Given the description of an element on the screen output the (x, y) to click on. 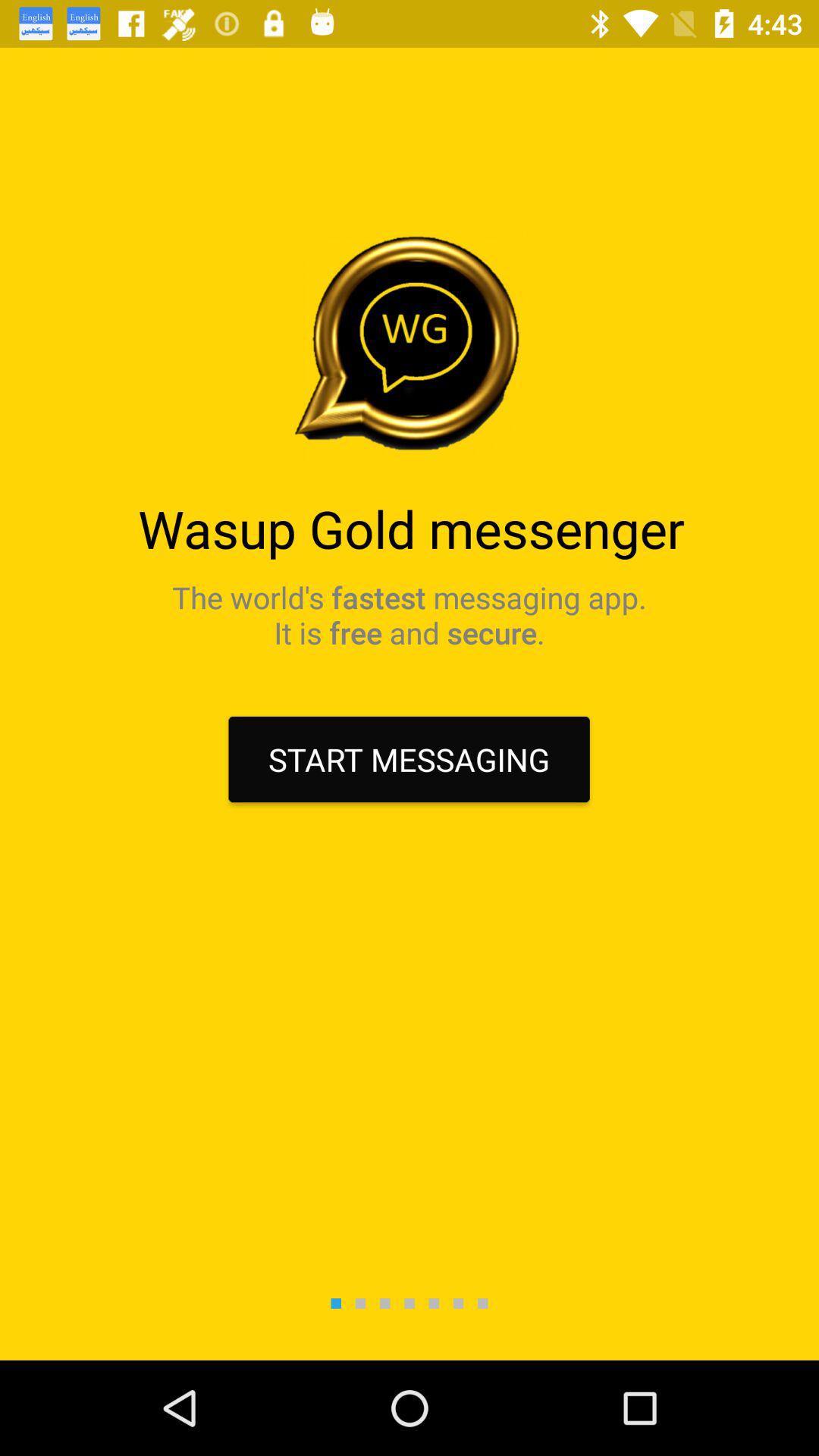
scroll until start messaging (408, 759)
